Given the description of an element on the screen output the (x, y) to click on. 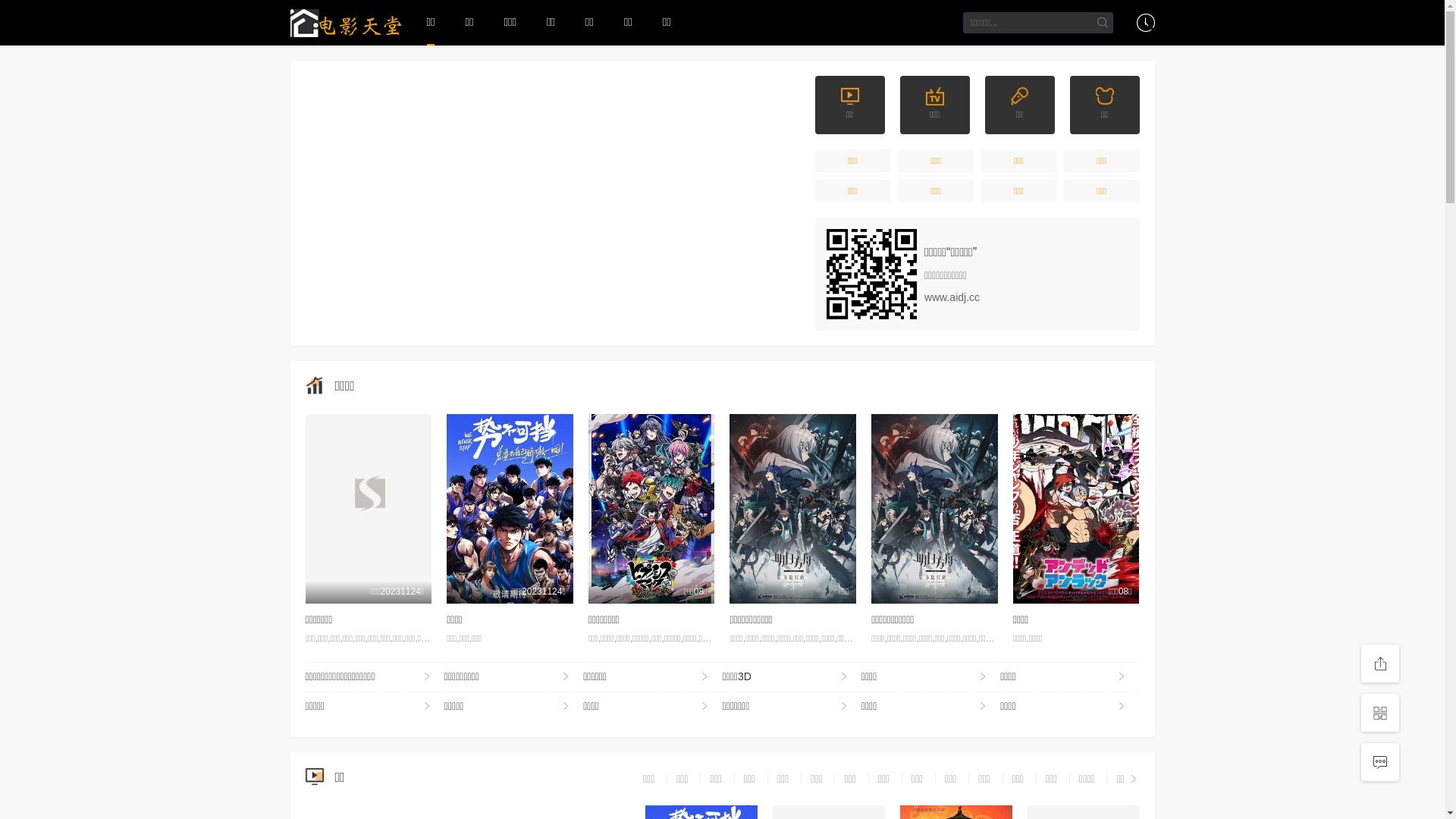
http://www.aidj.cc/ Element type: hover (871, 274)
